Given the description of an element on the screen output the (x, y) to click on. 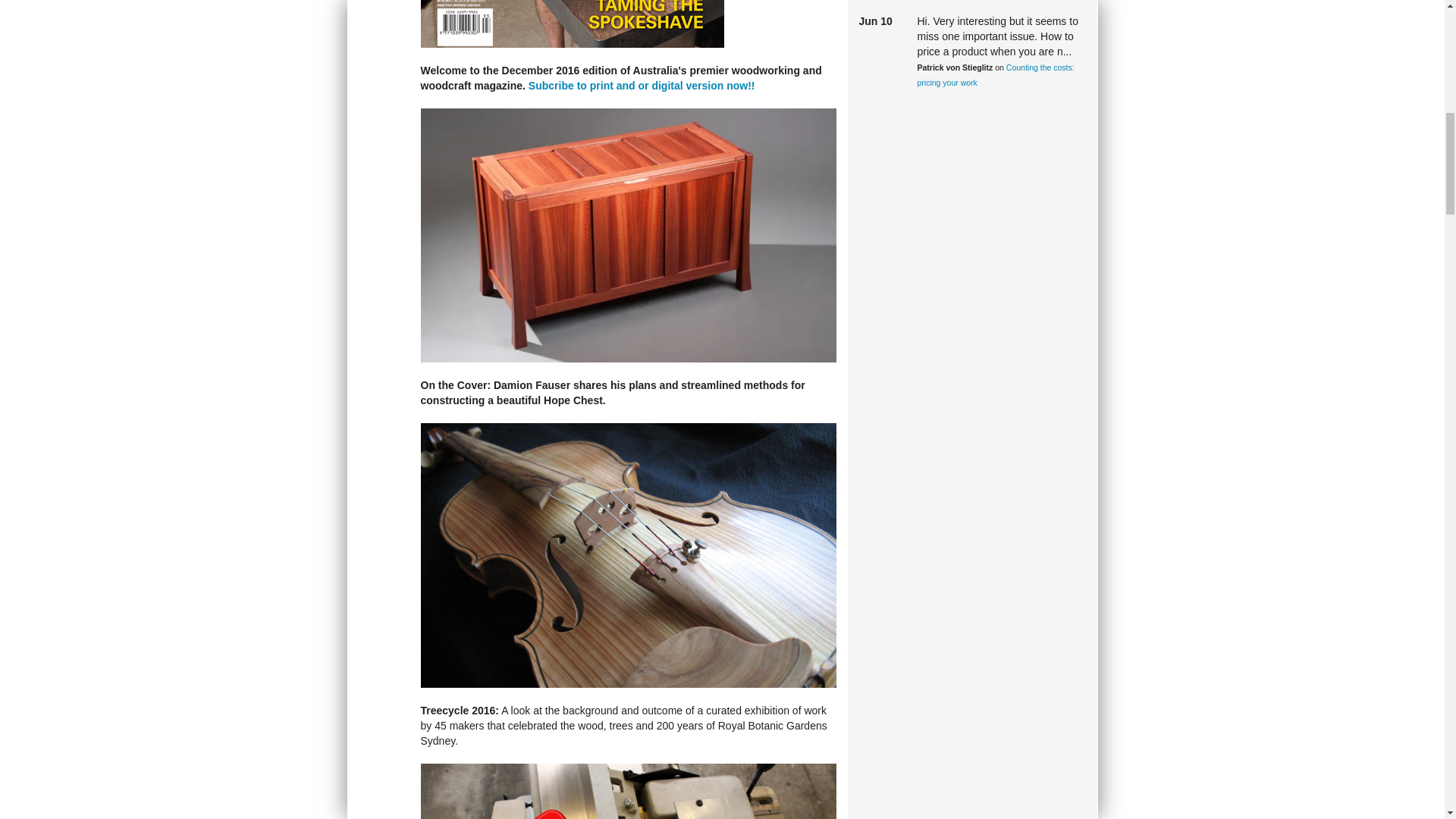
Subcribe to print and or digital version now!! (641, 85)
Counting the costs: pricing your work (995, 74)
